Given the description of an element on the screen output the (x, y) to click on. 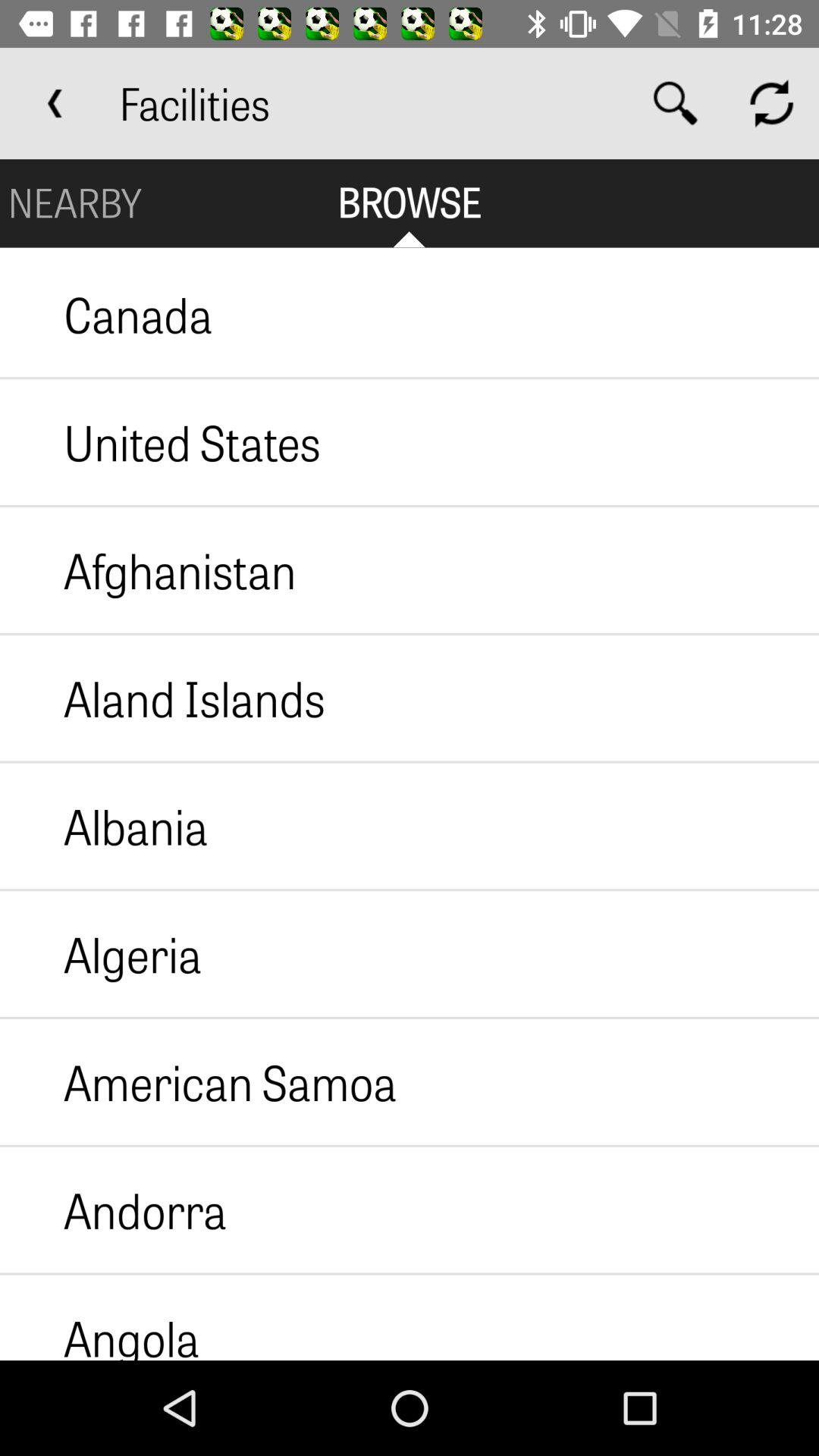
click icon below the united states item (148, 570)
